Given the description of an element on the screen output the (x, y) to click on. 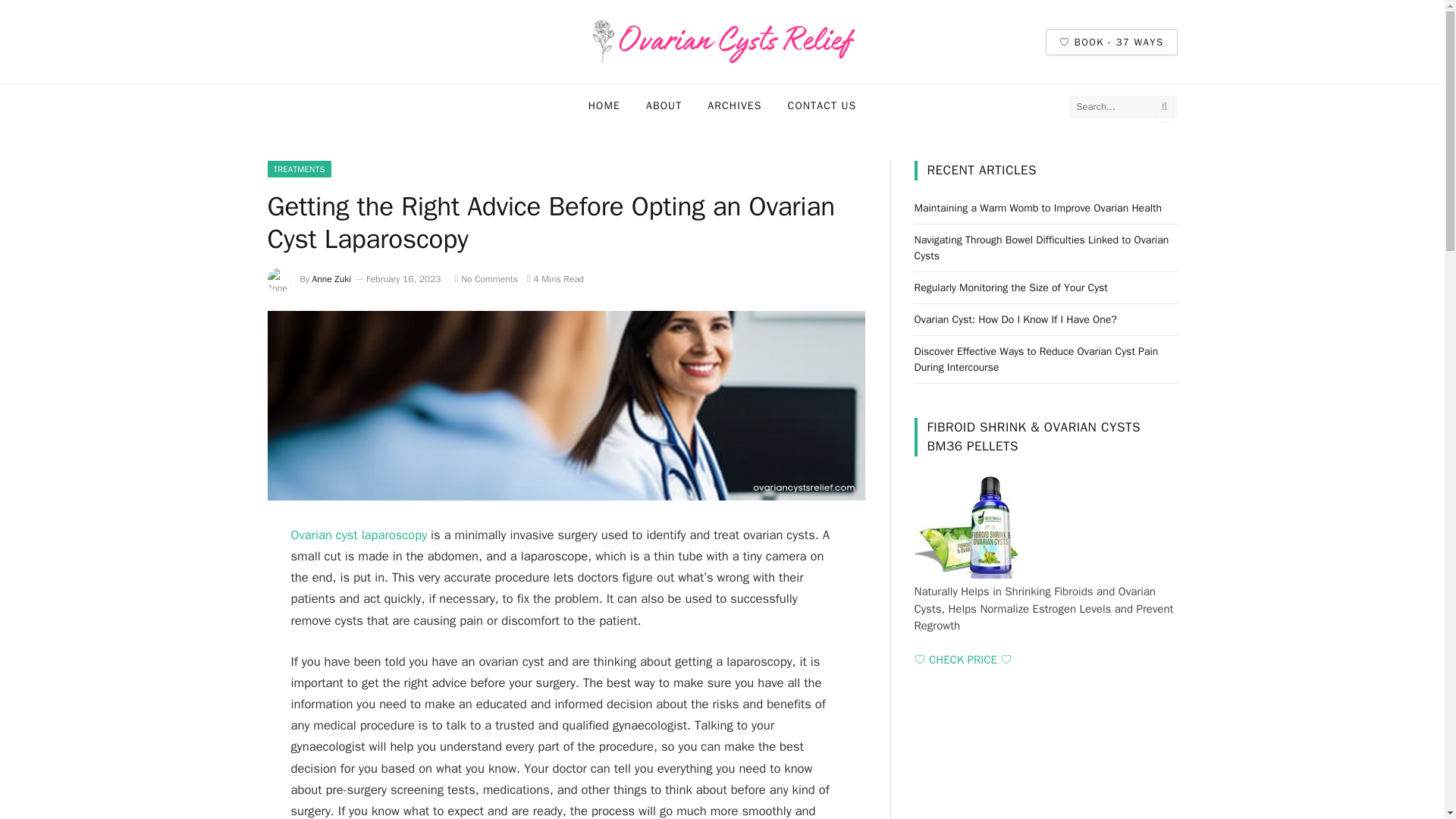
HOME (604, 106)
CONTACT US (821, 106)
Posts by Anne Zuki (332, 278)
Anne Zuki (332, 278)
No Comments (485, 278)
Ovarian cyst laparoscopy (359, 534)
Maintaining a Warm Womb to Improve Ovarian Health (1037, 207)
ABOUT (663, 106)
Ovarian Cysts Relief (721, 41)
ARCHIVES (734, 106)
TREATMENTS (298, 168)
Regularly Monitoring the Size of Your Cyst (1011, 286)
